Given the description of an element on the screen output the (x, y) to click on. 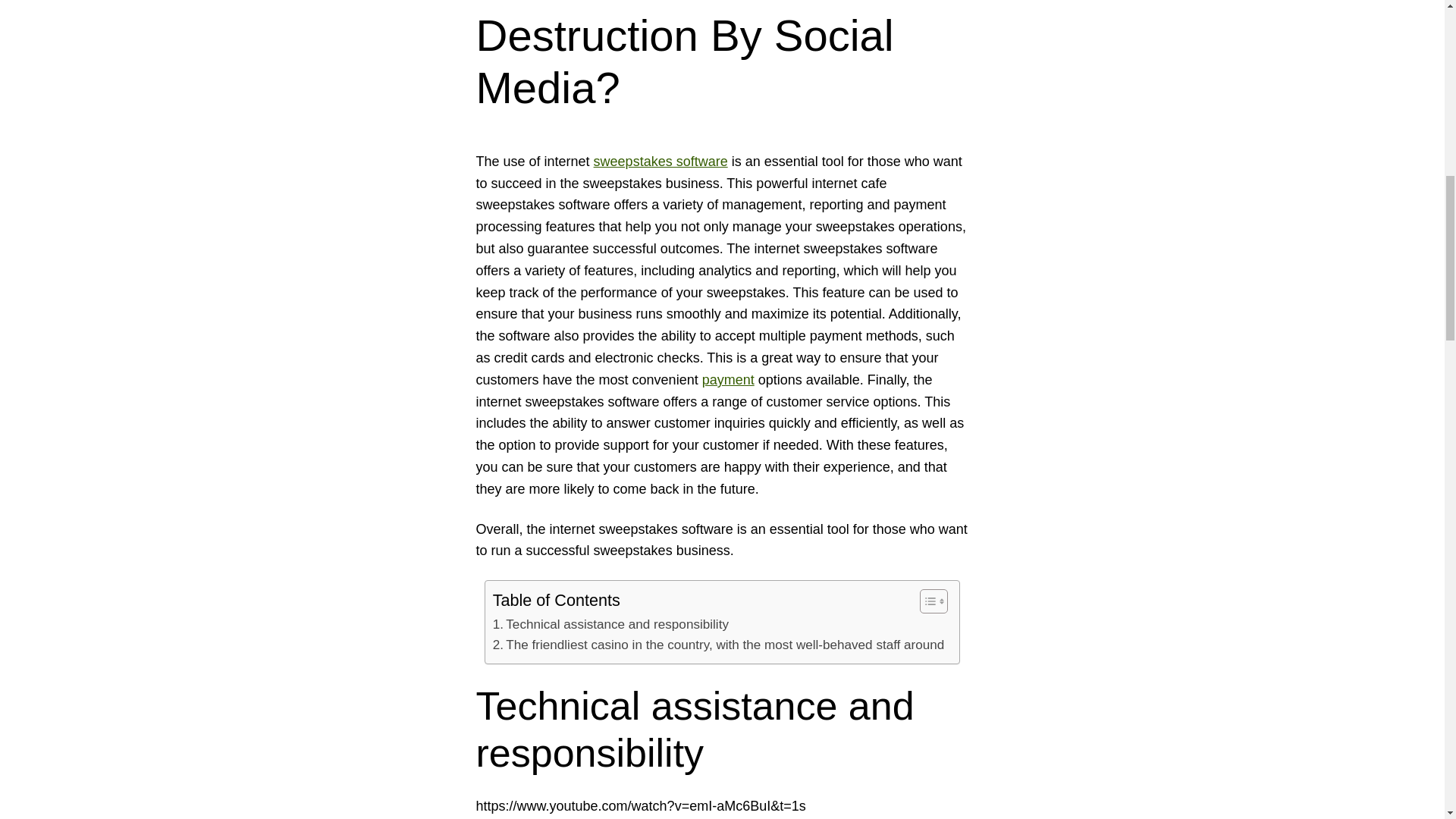
payment (727, 379)
sweepstakes software (661, 160)
Technical assistance and responsibility (611, 624)
